Given the description of an element on the screen output the (x, y) to click on. 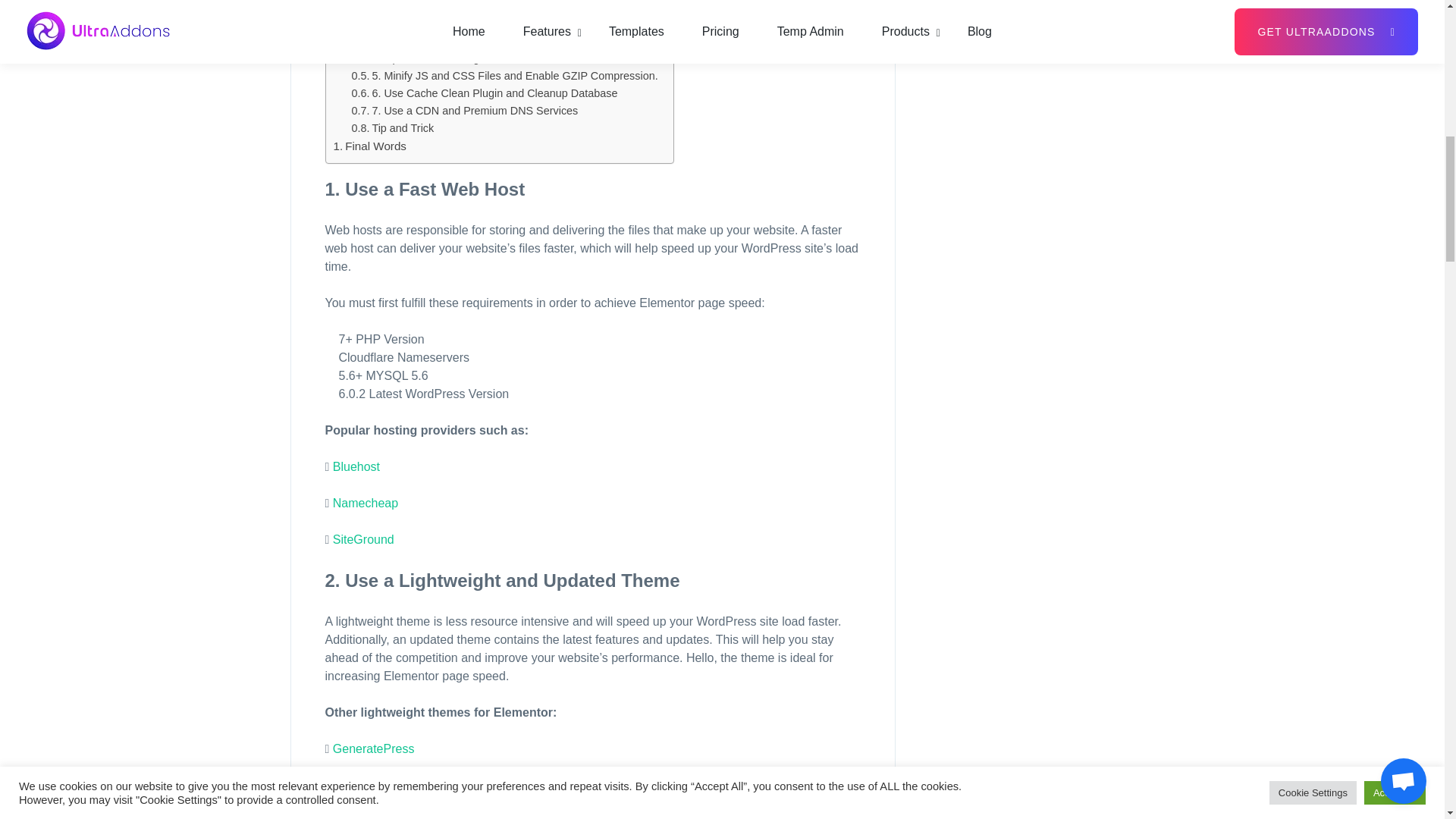
Astra (345, 784)
Tip and Trick (392, 128)
6. Use Cache Clean Plugin and Cleanup Database (484, 93)
6. Use Cache Clean Plugin and Cleanup Database (484, 93)
SiteGround (363, 539)
3. Eliminate Slow, Poorly Coded, and Unused Plugins (491, 40)
3. Eliminate Slow, Poorly Coded, and Unused Plugins (491, 40)
7. Use a CDN and Premium DNS Services (465, 110)
2. Use a Lightweight and Updated Theme (462, 23)
Final Words (369, 146)
GeneratePress (373, 748)
7. Use a CDN and Premium DNS Services (465, 110)
2. Use a Lightweight and Updated Theme (462, 23)
5. Minify JS and CSS Files and Enable GZIP Compression. (505, 76)
1. Use a Fast Web Host (419, 7)
